Given the description of an element on the screen output the (x, y) to click on. 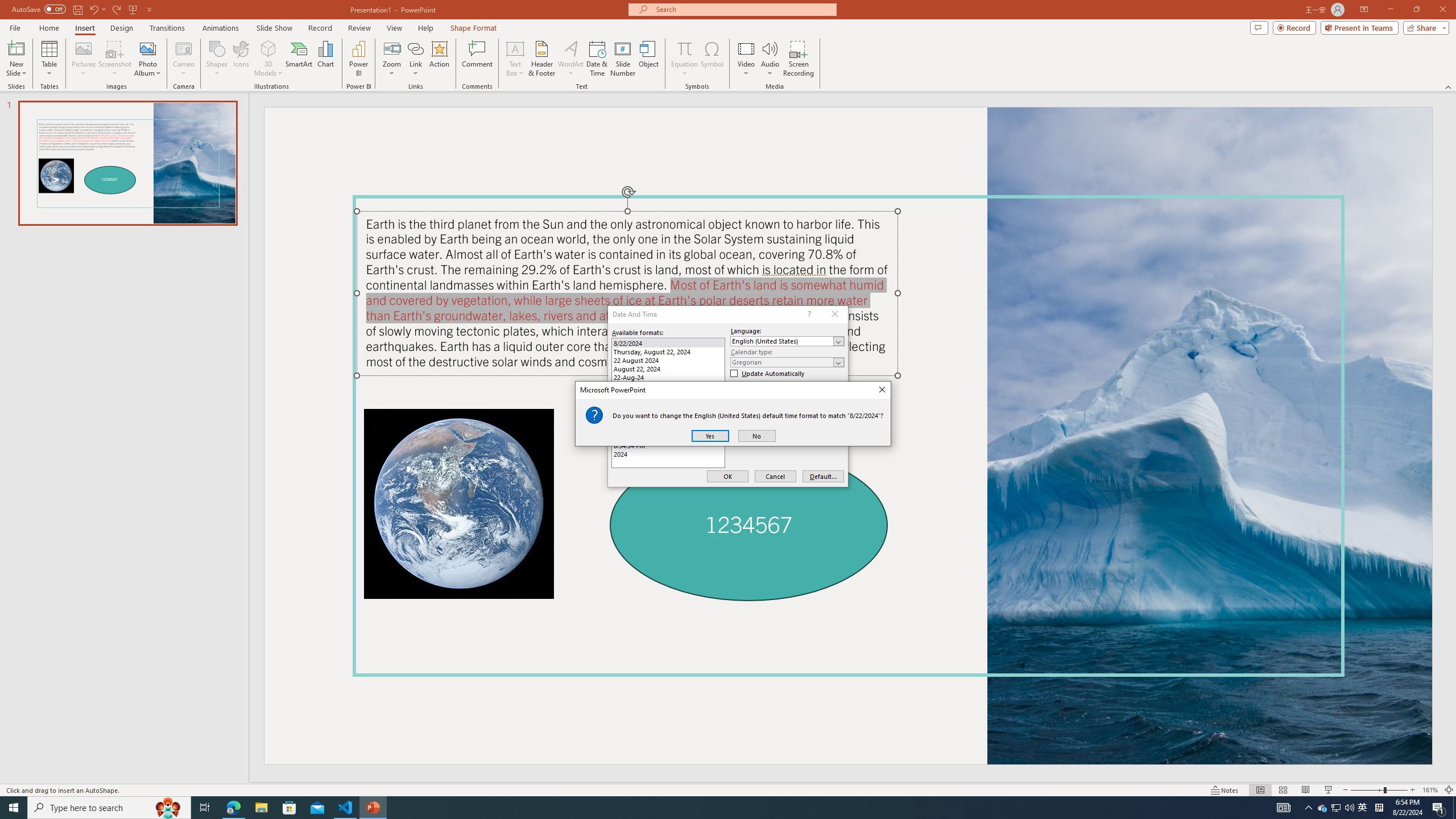
Zoom In (1412, 790)
Symbol... (711, 58)
Link (415, 58)
August 22, 2024 (667, 368)
Transitions (167, 28)
Power BI (358, 58)
Start (13, 807)
Calendar type (787, 362)
Review (359, 28)
Normal (1260, 790)
Zoom Out (1367, 790)
Draw Horizontal Text Box (515, 48)
22 August 2024 (667, 360)
